Given the description of an element on the screen output the (x, y) to click on. 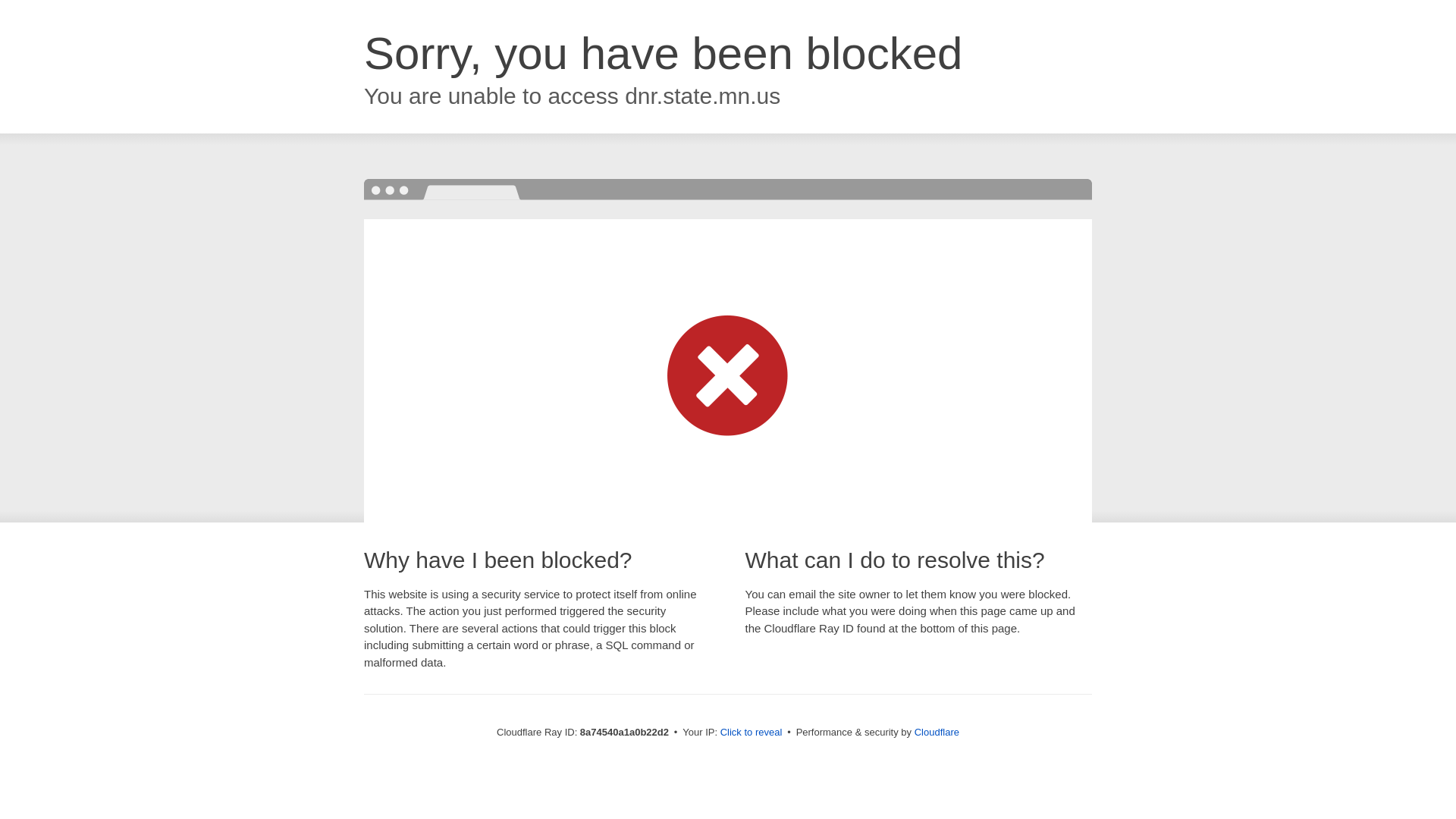
Cloudflare (936, 731)
Click to reveal (751, 732)
